Given the description of an element on the screen output the (x, y) to click on. 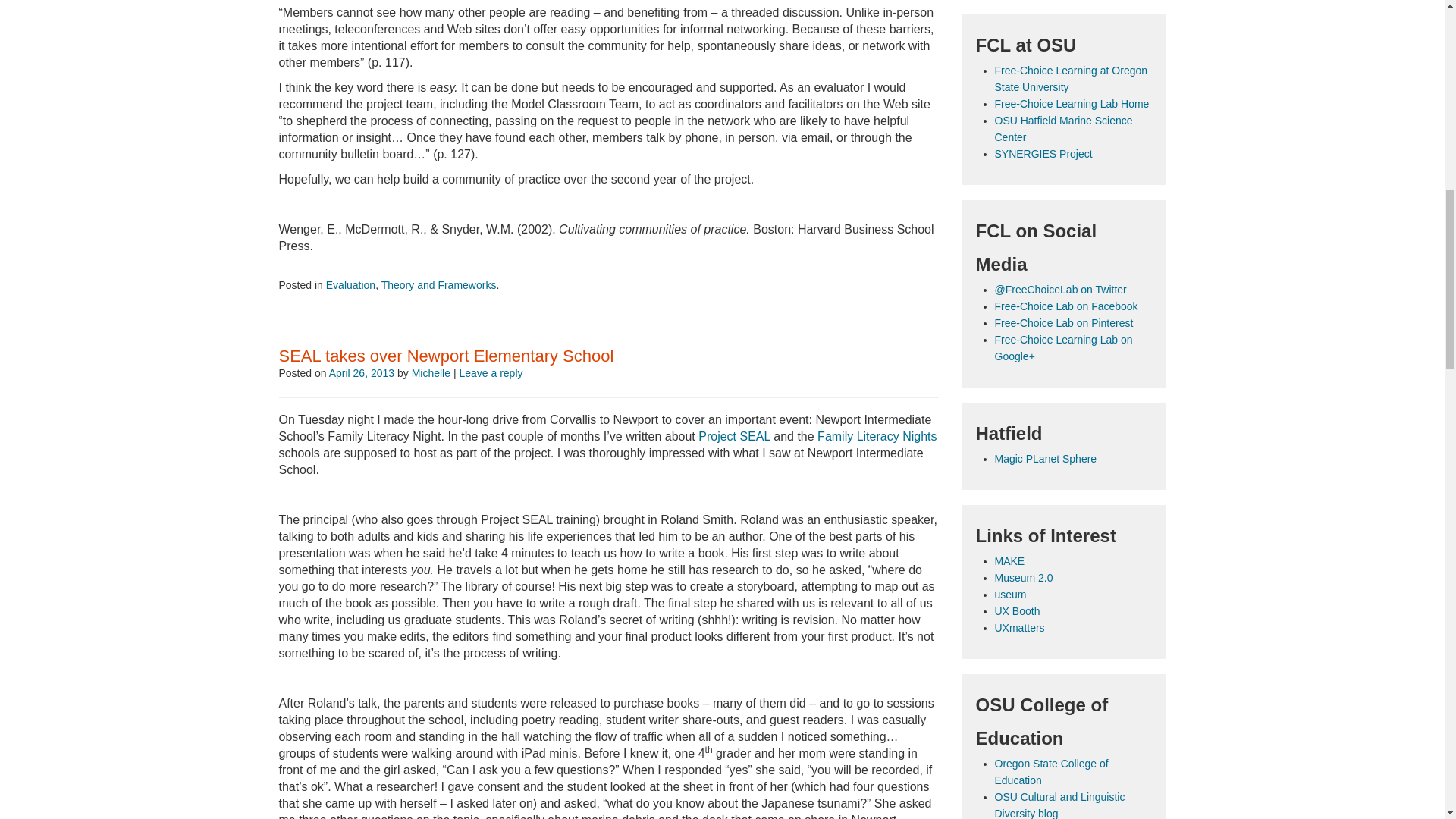
SEAL takes over Newport Elementary School (446, 355)
Evaluation (350, 285)
5:37 pm (361, 372)
April 26, 2013 (361, 372)
Literacy in the 21st Century (735, 436)
Michelle (430, 372)
Project SEAL (735, 436)
Evaluating Family Literacy Nights (876, 436)
Family Literacy Nights (876, 436)
Leave a reply (490, 372)
